Given the description of an element on the screen output the (x, y) to click on. 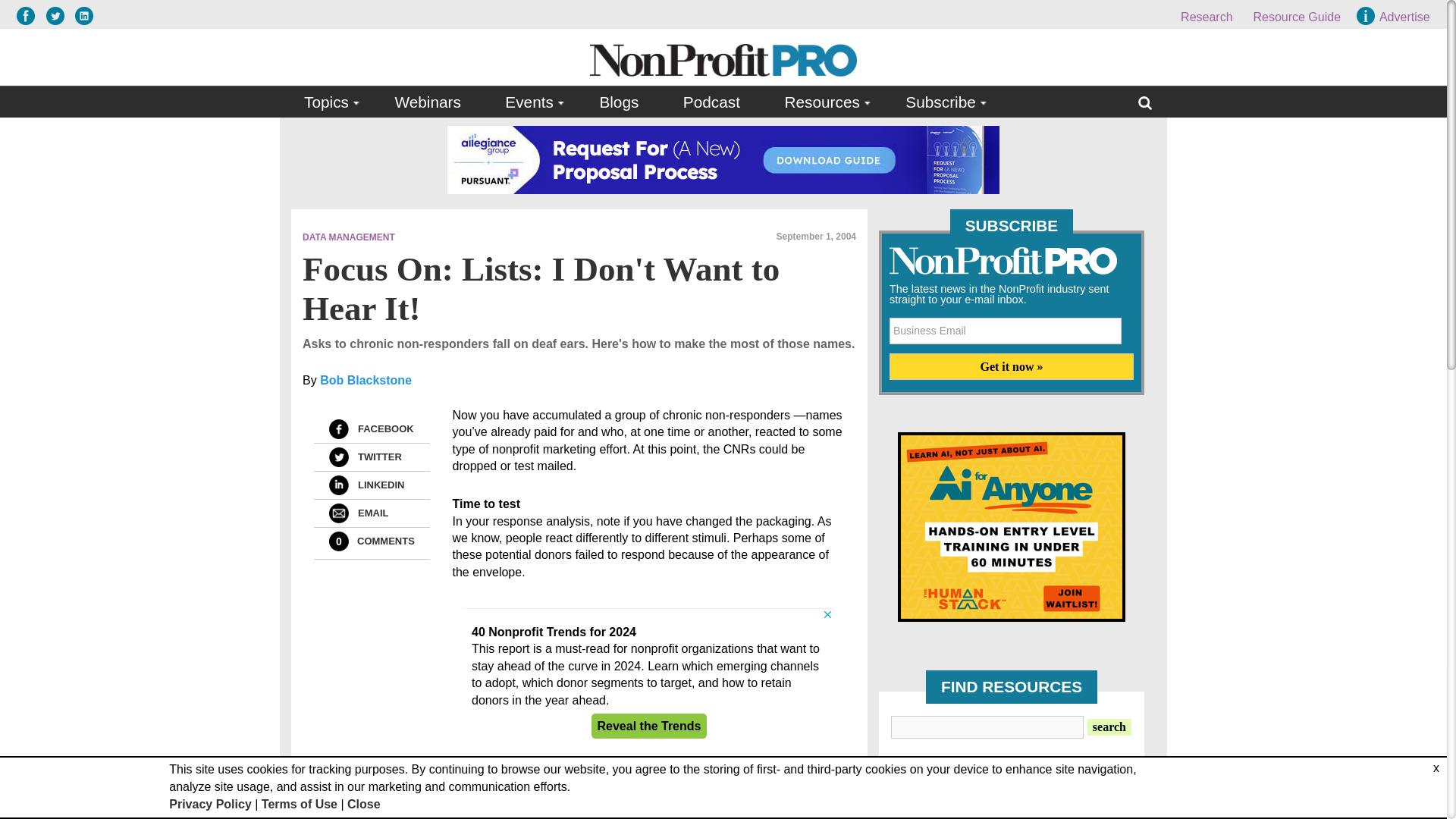
Email Link (339, 513)
Twitter (339, 456)
Opens in a new window (29, 15)
Resource Guide (1296, 16)
search (1109, 727)
3rd party ad content (649, 684)
3rd party ad content (1011, 526)
Topics (327, 101)
Facebook (339, 428)
Opens in a new window (84, 15)
LinkedIn (339, 485)
Research (1205, 16)
Advertise (1395, 16)
Opens in a new window (58, 15)
3rd party ad content (722, 160)
